Given the description of an element on the screen output the (x, y) to click on. 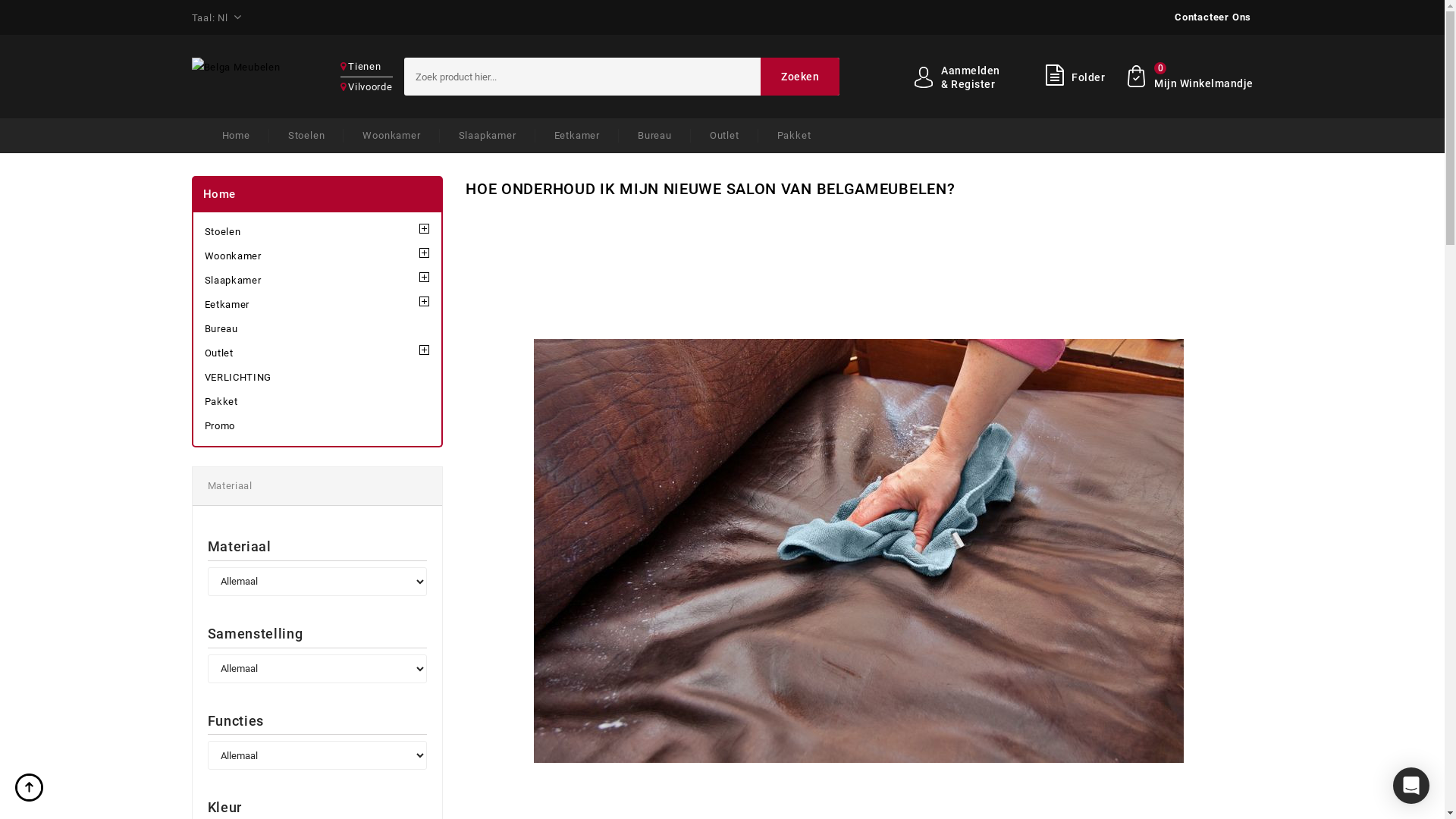
Pakket Element type: text (317, 401)
Home Element type: text (236, 135)
Stoelen Element type: text (317, 231)
VERLICHTING Element type: text (317, 377)
Home Element type: text (219, 193)
Outlet Element type: text (724, 135)
Folder Element type: text (1053, 78)
Contacteer Ons Element type: text (1212, 16)
Eetkamer Element type: text (317, 304)
Mijn Winkelmandje
0 Element type: text (1190, 80)
Stoelen Element type: text (306, 135)
Outlet Element type: text (317, 353)
Bureau Element type: text (317, 328)
  Element type: text (30, 788)
Promo Element type: text (317, 426)
Eetkamer Element type: text (576, 135)
Zoeken Element type: text (799, 76)
Woonkamer Element type: text (391, 135)
Pakket Element type: text (784, 135)
Bureau Element type: text (654, 135)
Woonkamer Element type: text (317, 256)
Slaapkamer Element type: text (487, 135)
Slaapkamer Element type: text (317, 280)
